Given the description of an element on the screen output the (x, y) to click on. 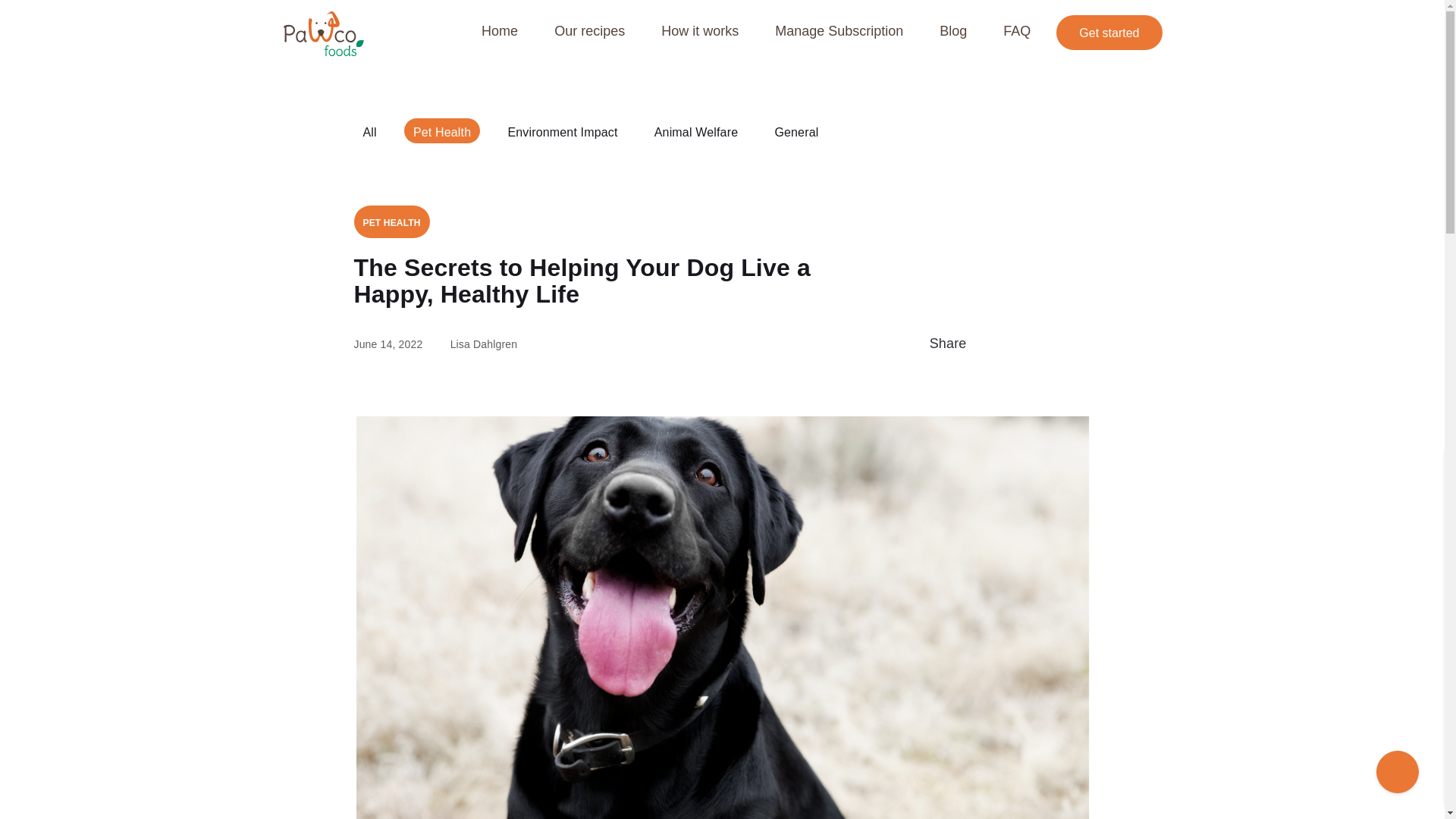
All (369, 130)
Get started (1109, 32)
General (796, 130)
Blog (952, 30)
How it works (699, 30)
Animal Welfare (695, 130)
Our recipes (589, 30)
PawCo (323, 33)
Environment Impact (561, 130)
PET HEALTH (391, 221)
